Given the description of an element on the screen output the (x, y) to click on. 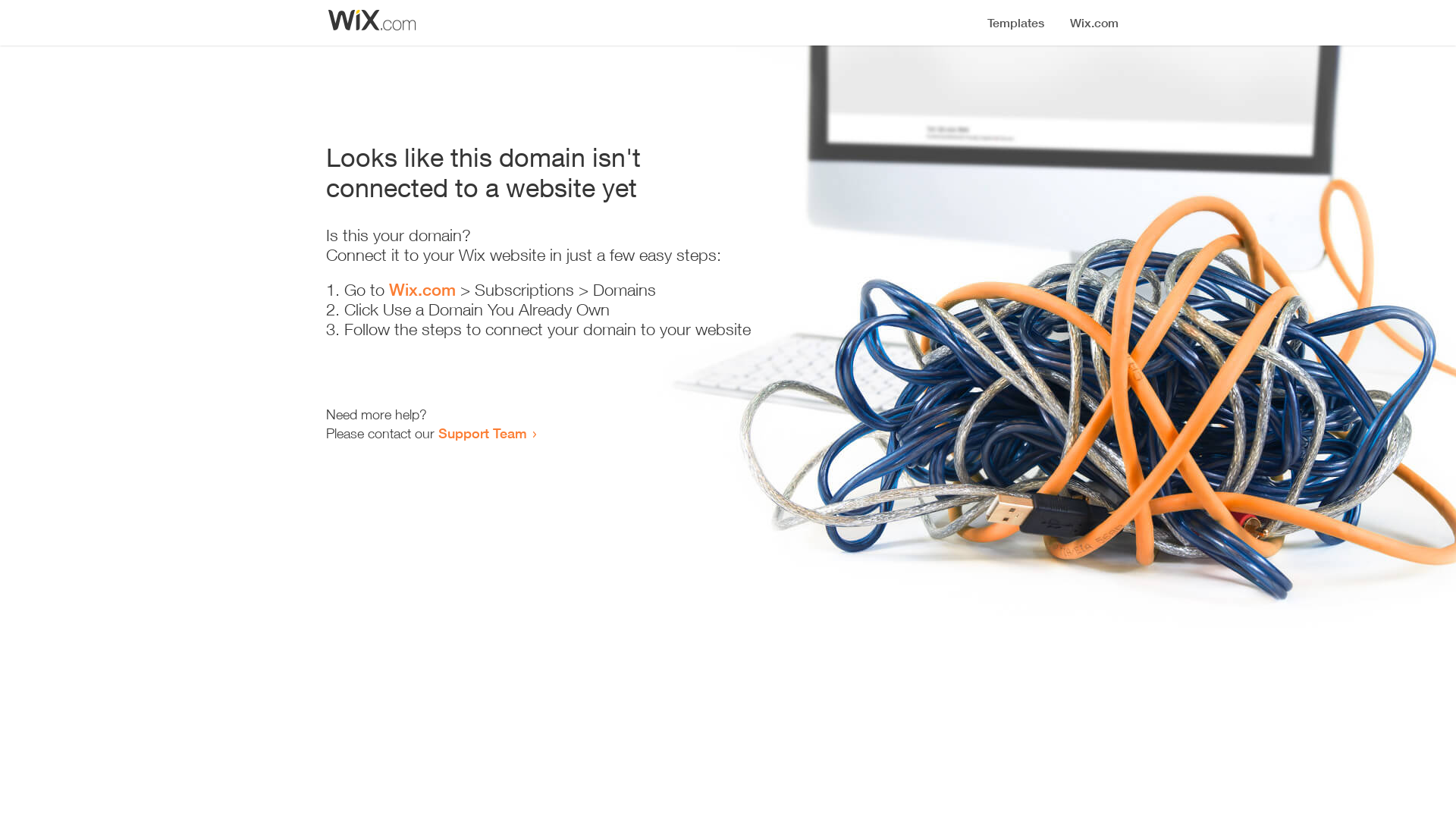
Wix.com Element type: text (422, 289)
Support Team Element type: text (482, 432)
